Given the description of an element on the screen output the (x, y) to click on. 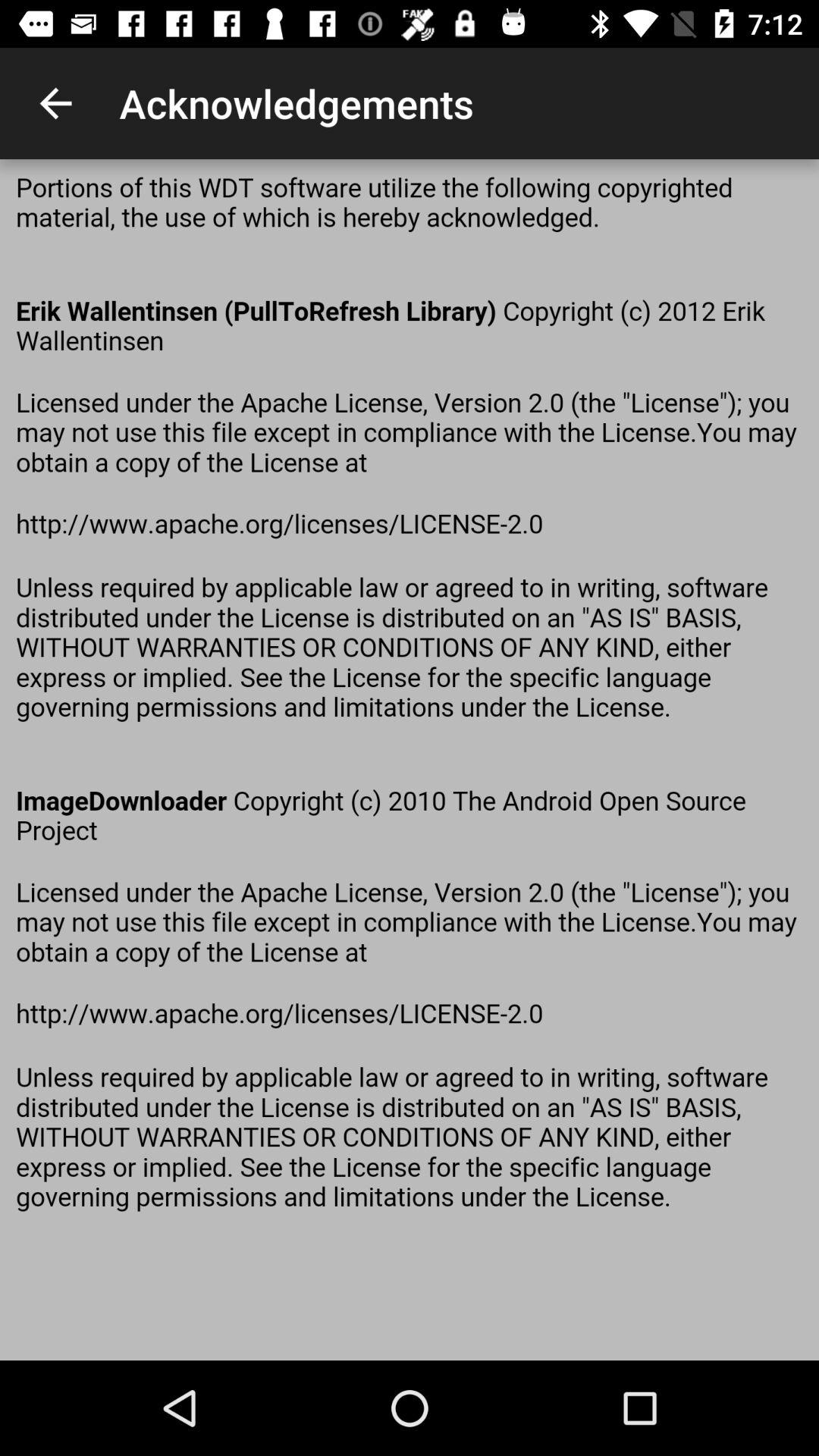
seeing the paragraph (409, 759)
